Given the description of an element on the screen output the (x, y) to click on. 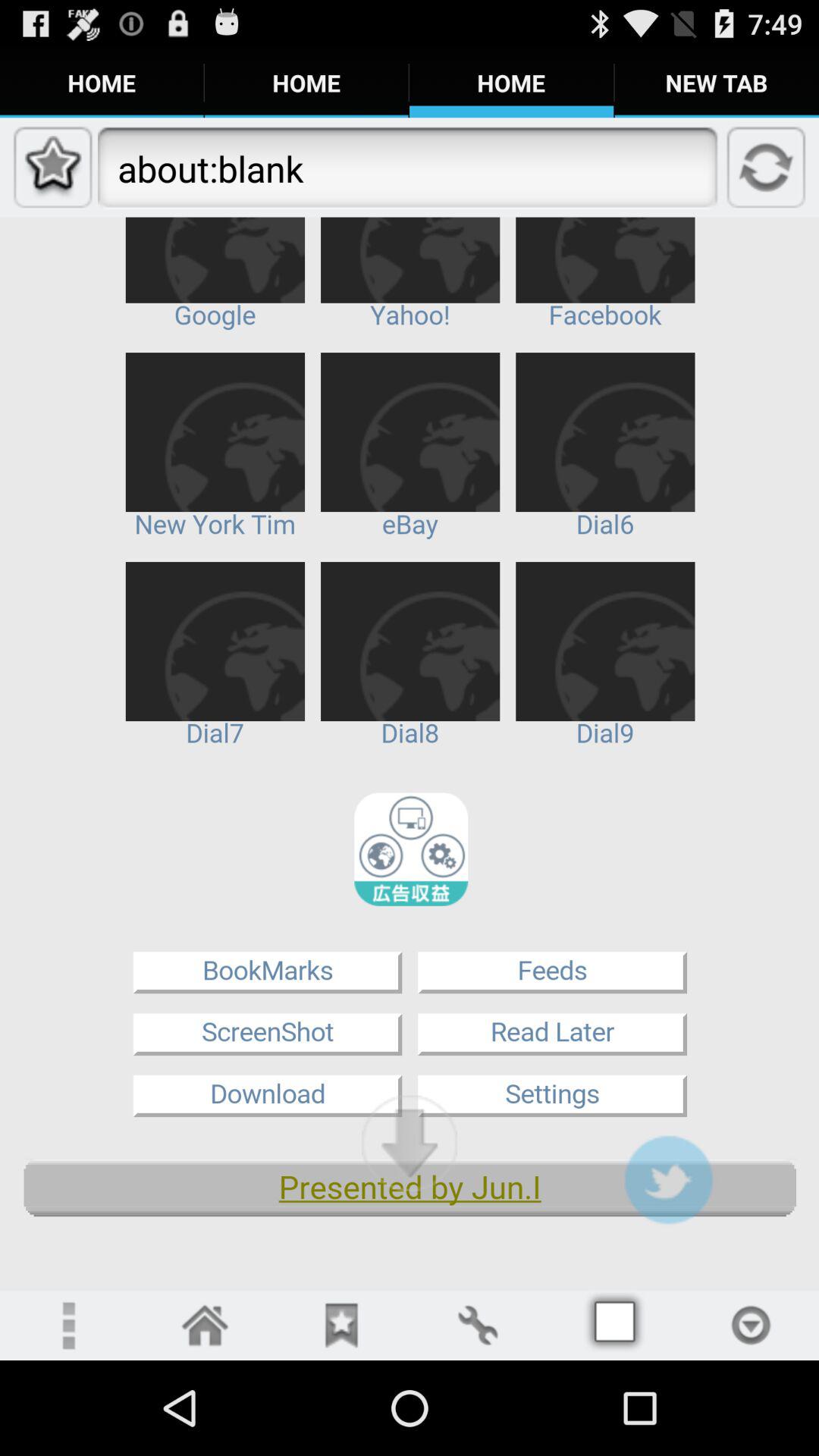
go down (409, 1142)
